Given the description of an element on the screen output the (x, y) to click on. 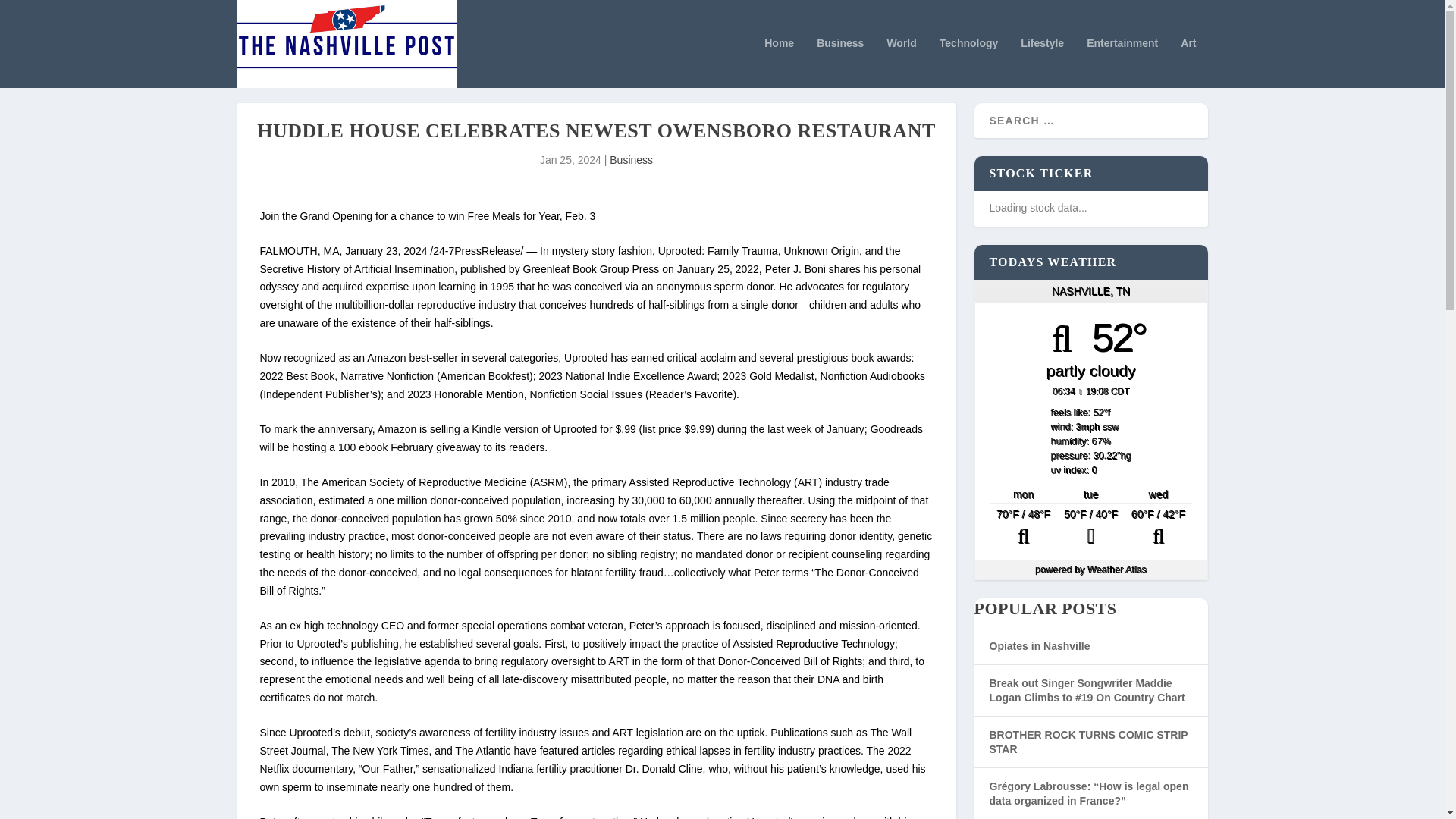
Technology (968, 61)
Rain (1090, 527)
Business (839, 61)
Partly Cloudy (1158, 527)
Mostly Cloudy (1023, 527)
Business (631, 159)
BROTHER ROCK TURNS COMIC STRIP STAR (1088, 741)
Opiates in Nashville (1038, 645)
Search (31, 13)
Entertainment (1121, 61)
